Given the description of an element on the screen output the (x, y) to click on. 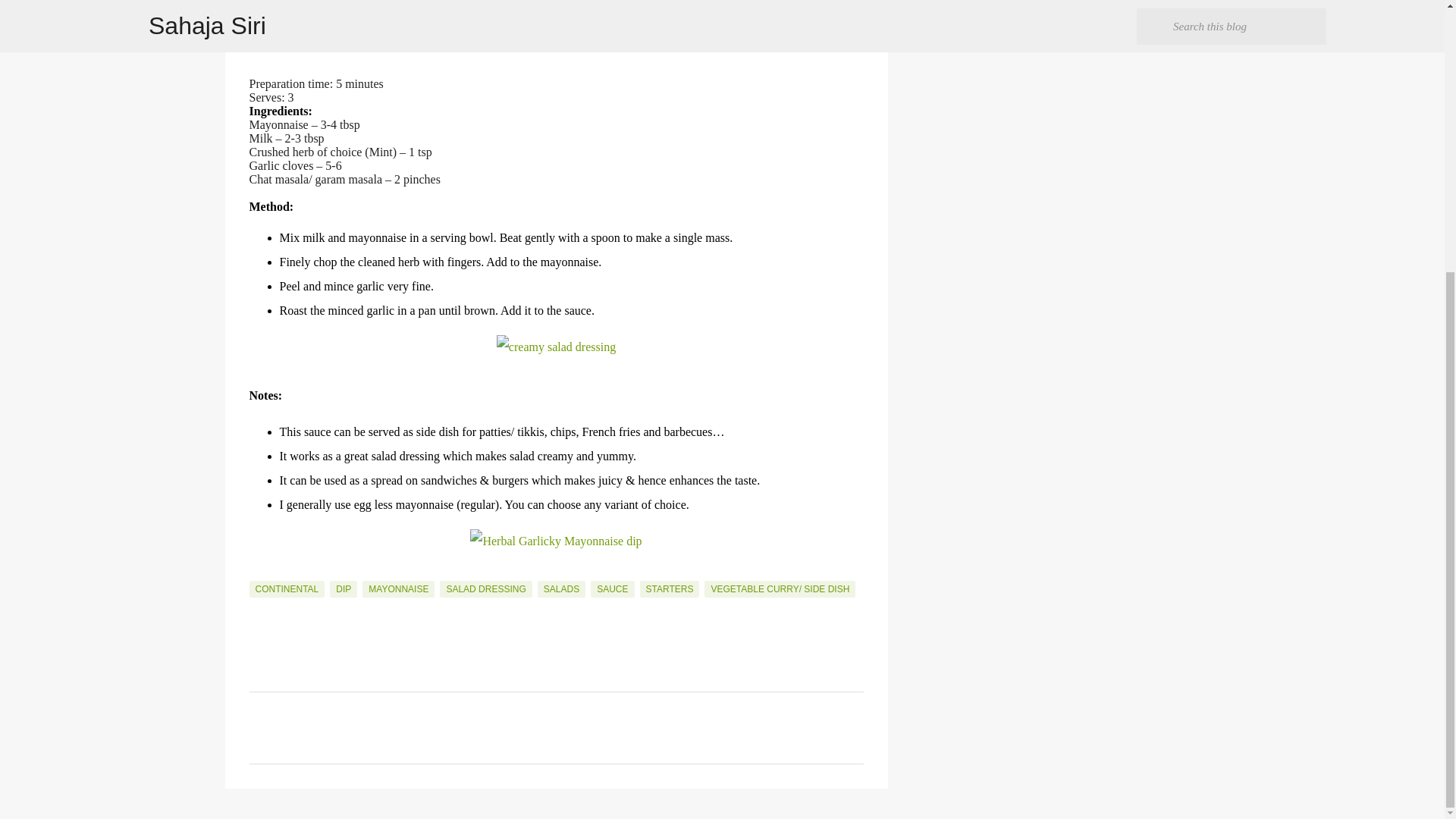
CONTINENTAL (286, 588)
MAYONNAISE (397, 588)
STARTERS (670, 588)
DIP (343, 588)
SALAD DRESSING (485, 588)
SAUCE (612, 588)
SALADS (561, 588)
